Given the description of an element on the screen output the (x, y) to click on. 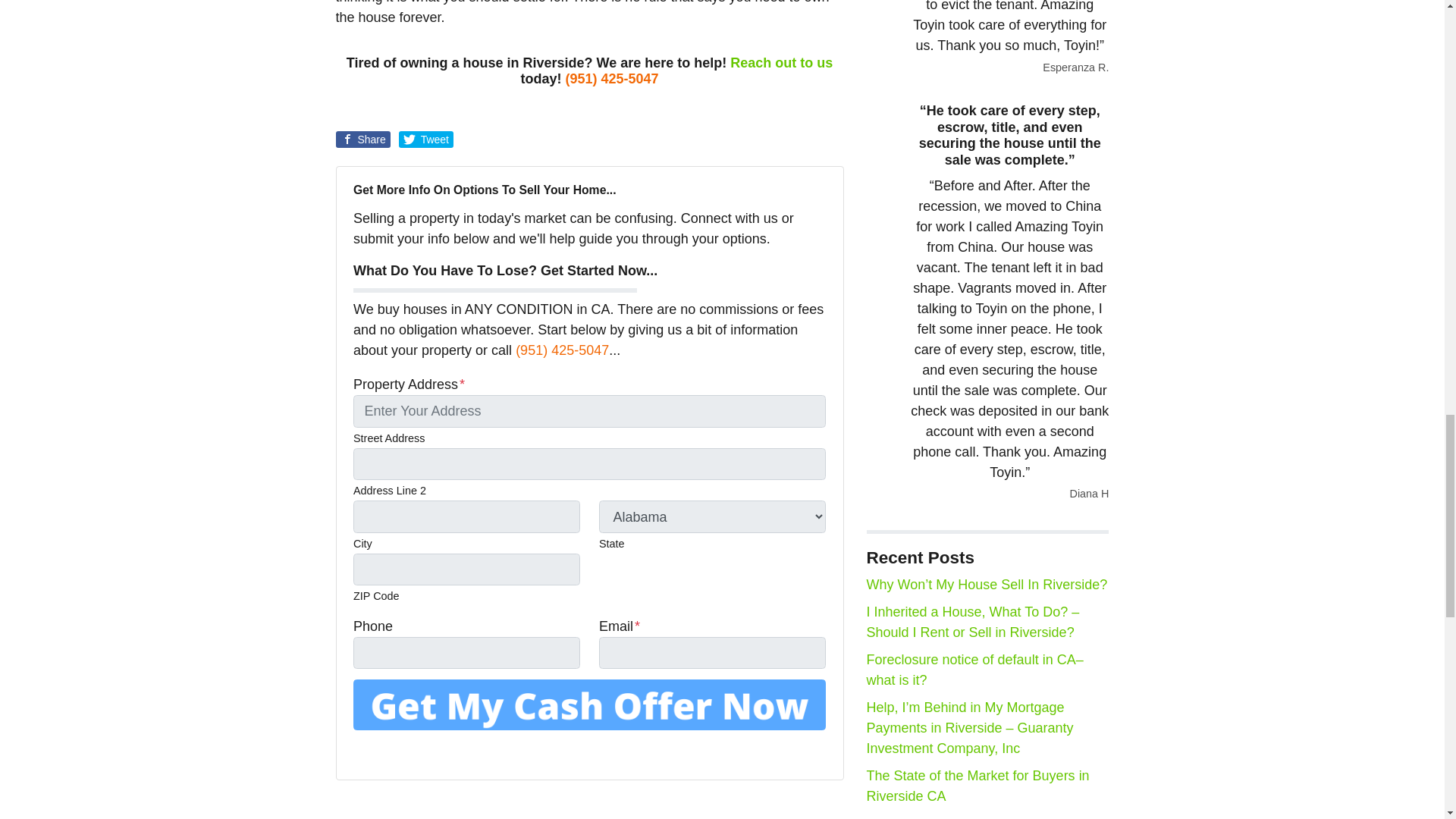
The State of the Market for Buyers in Riverside CA (977, 785)
Share on Facebook (362, 139)
Tweet (425, 139)
Twitter (362, 752)
Share on Twitter (425, 139)
YouTube (404, 752)
Instagram (447, 752)
LinkedIn (425, 752)
Reach out to us (781, 62)
Share (362, 139)
Facebook (383, 752)
